Given the description of an element on the screen output the (x, y) to click on. 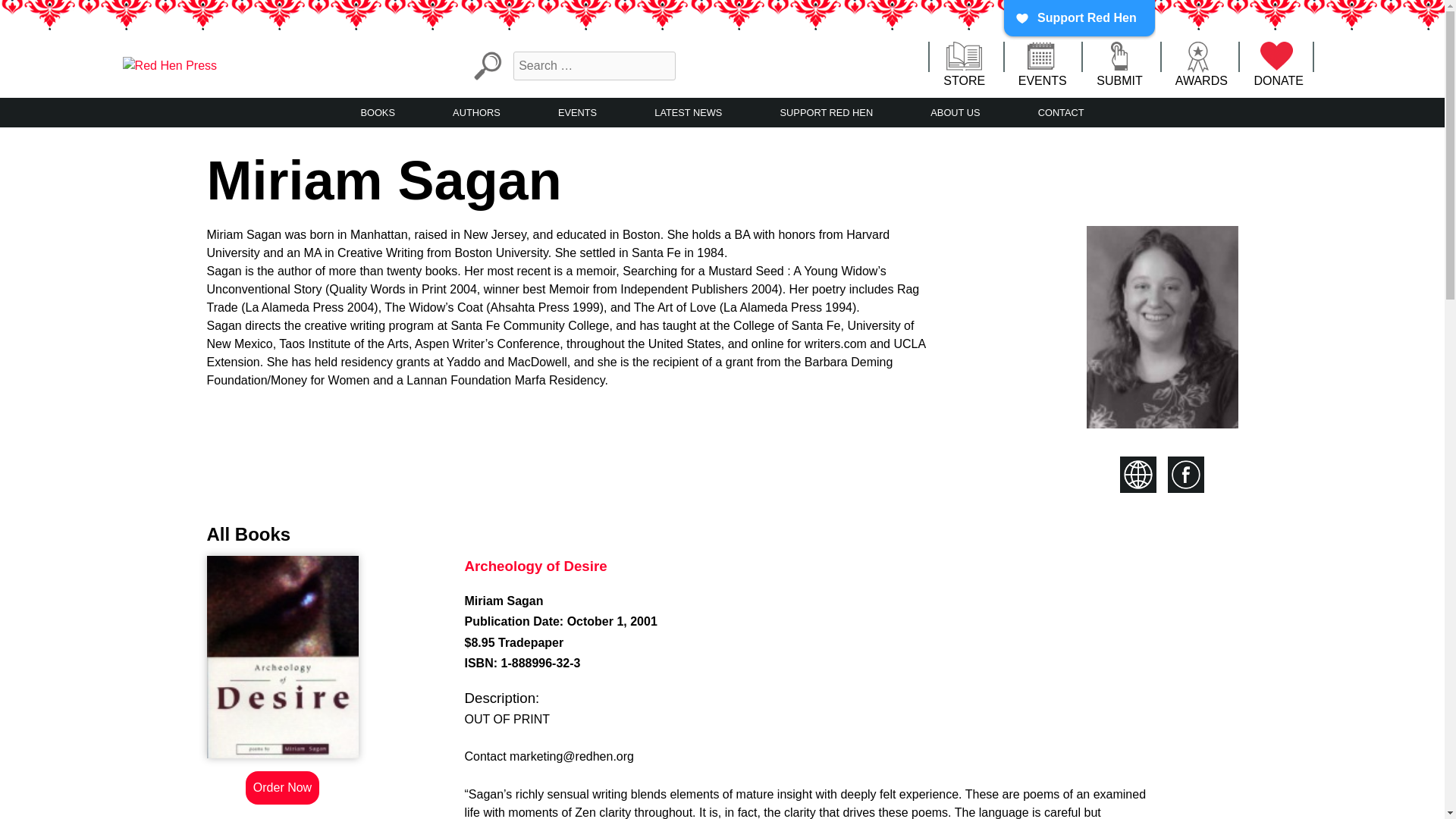
EVENTS (576, 112)
AWARDS (1200, 65)
ABOUT US (954, 112)
STORE (964, 65)
EVENTS (1042, 65)
DONATE (1278, 65)
LATEST NEWS (687, 112)
CONTACT (1061, 112)
SUBMIT (1119, 65)
BOOKS (376, 112)
Persistent Donate Button (1078, 20)
SUPPORT RED HEN (826, 112)
Red Hen Press (41, 95)
AUTHORS (476, 112)
